Given the description of an element on the screen output the (x, y) to click on. 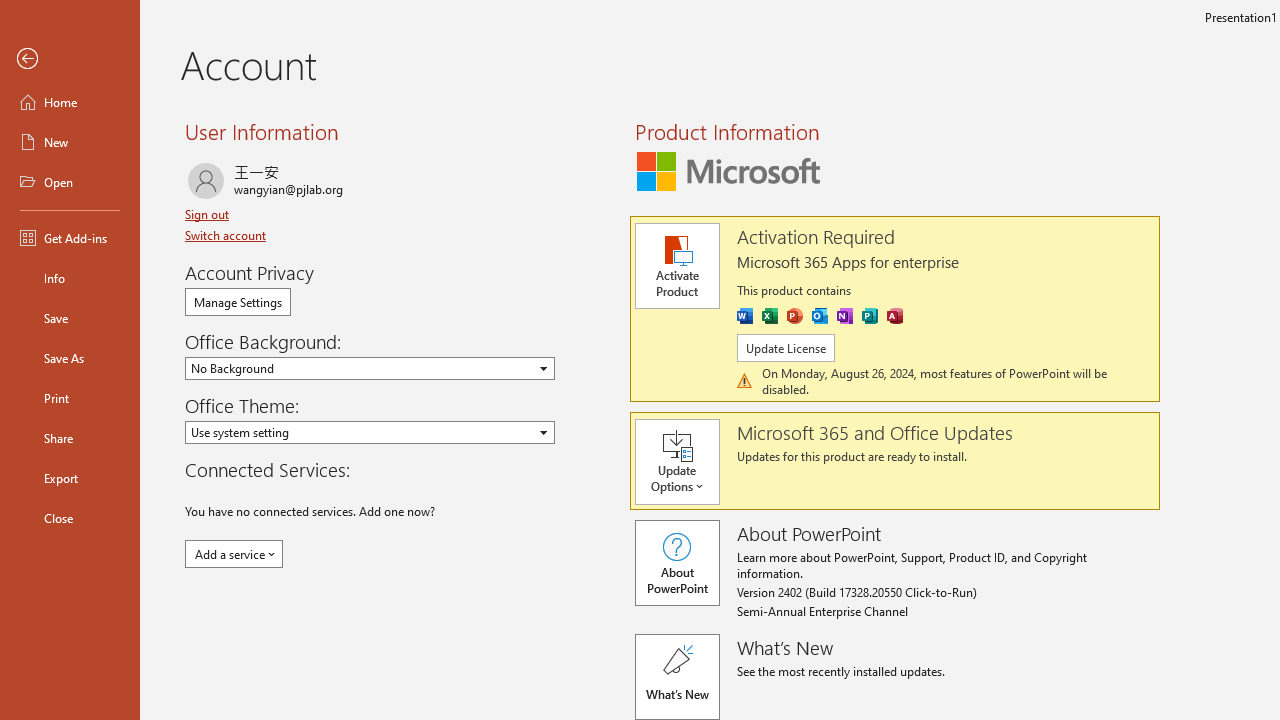
Export (69, 477)
Update Options (685, 461)
Word (744, 316)
About PowerPoint (676, 562)
